Given the description of an element on the screen output the (x, y) to click on. 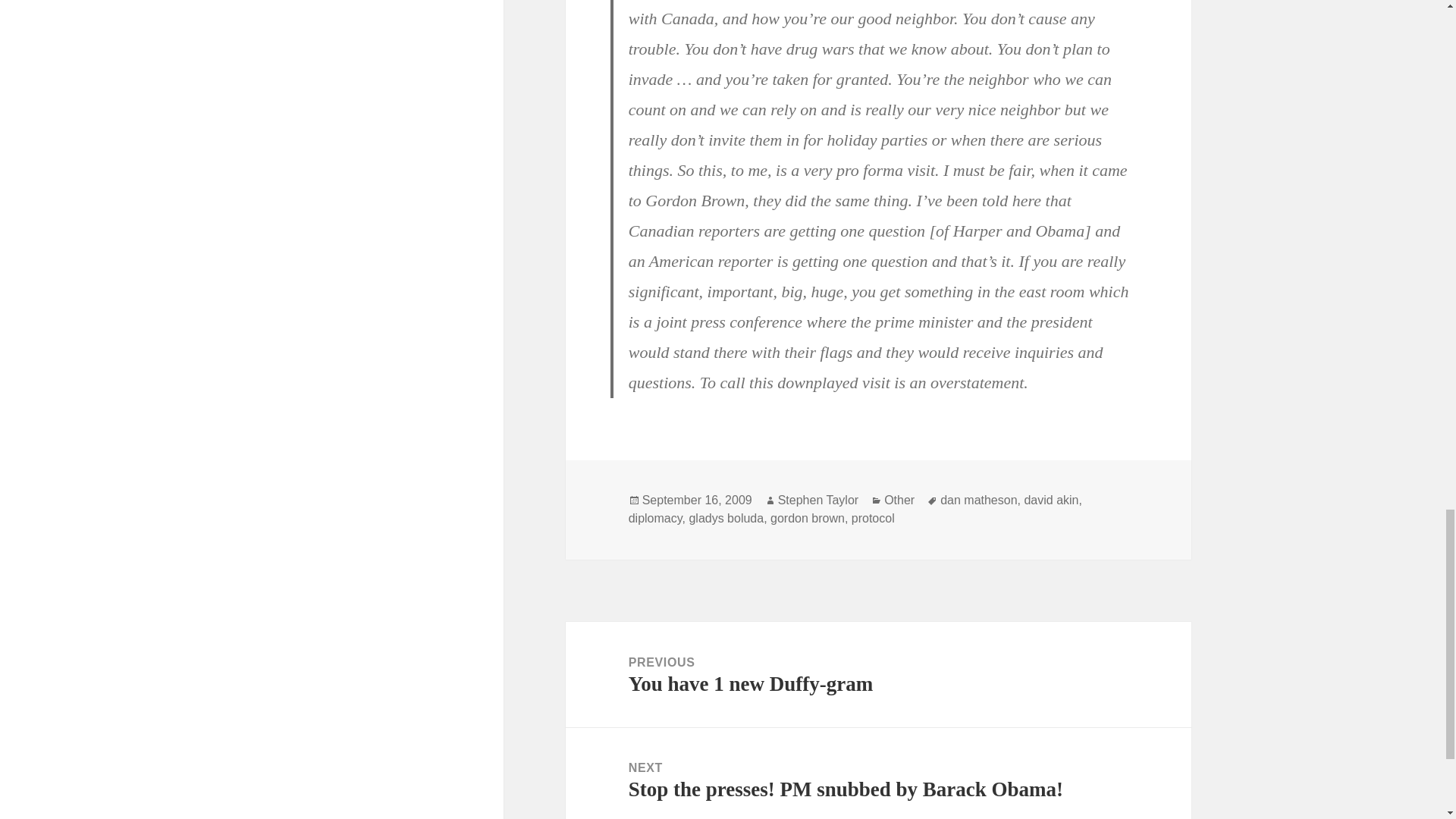
September 16, 2009 (878, 674)
protocol (697, 499)
diplomacy (873, 518)
gordon brown (655, 518)
Other (807, 518)
dan matheson (898, 499)
gladys boluda (978, 499)
Stephen Taylor (725, 518)
david akin (818, 499)
